Given the description of an element on the screen output the (x, y) to click on. 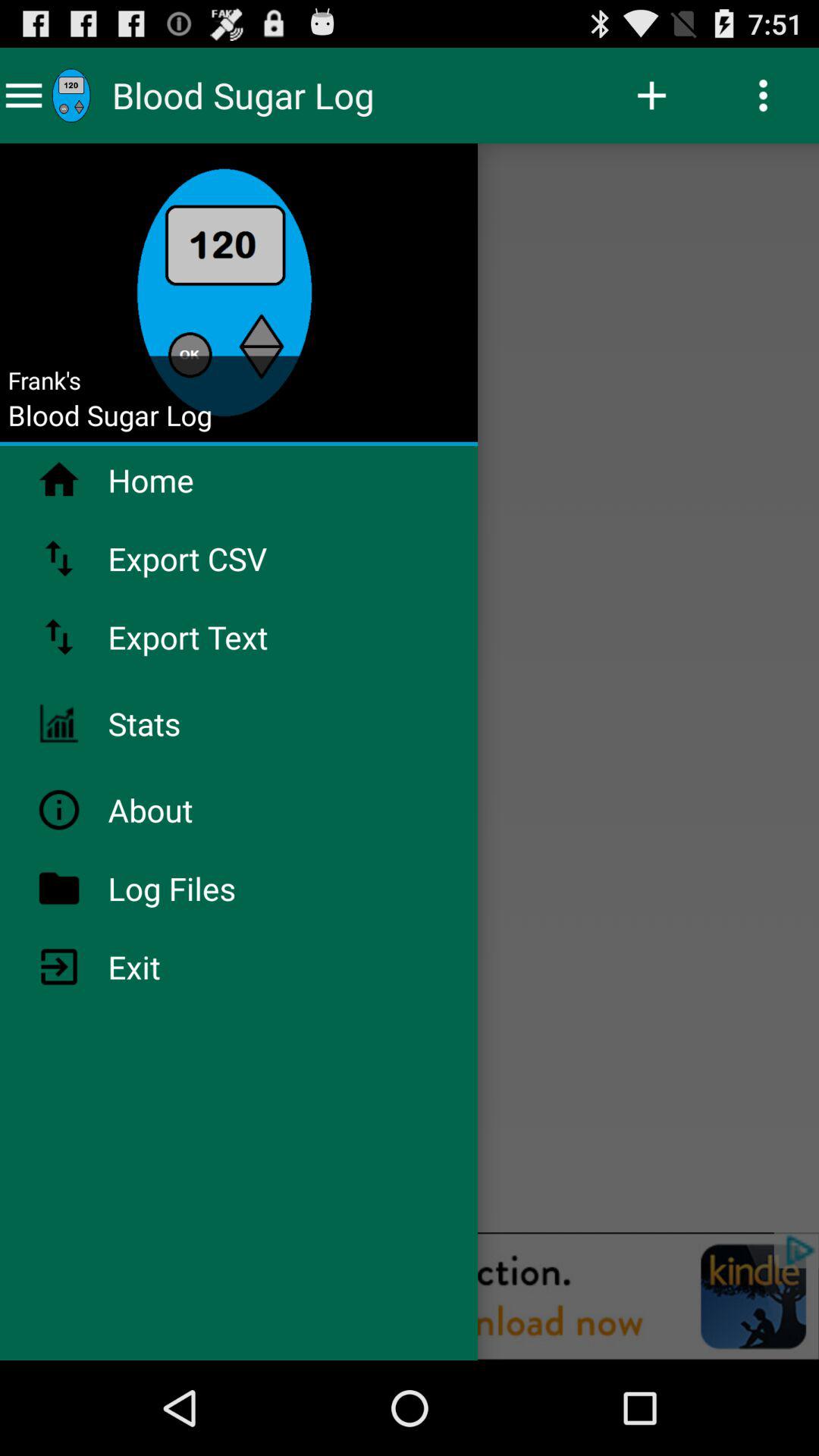
choose log files item (211, 888)
